Given the description of an element on the screen output the (x, y) to click on. 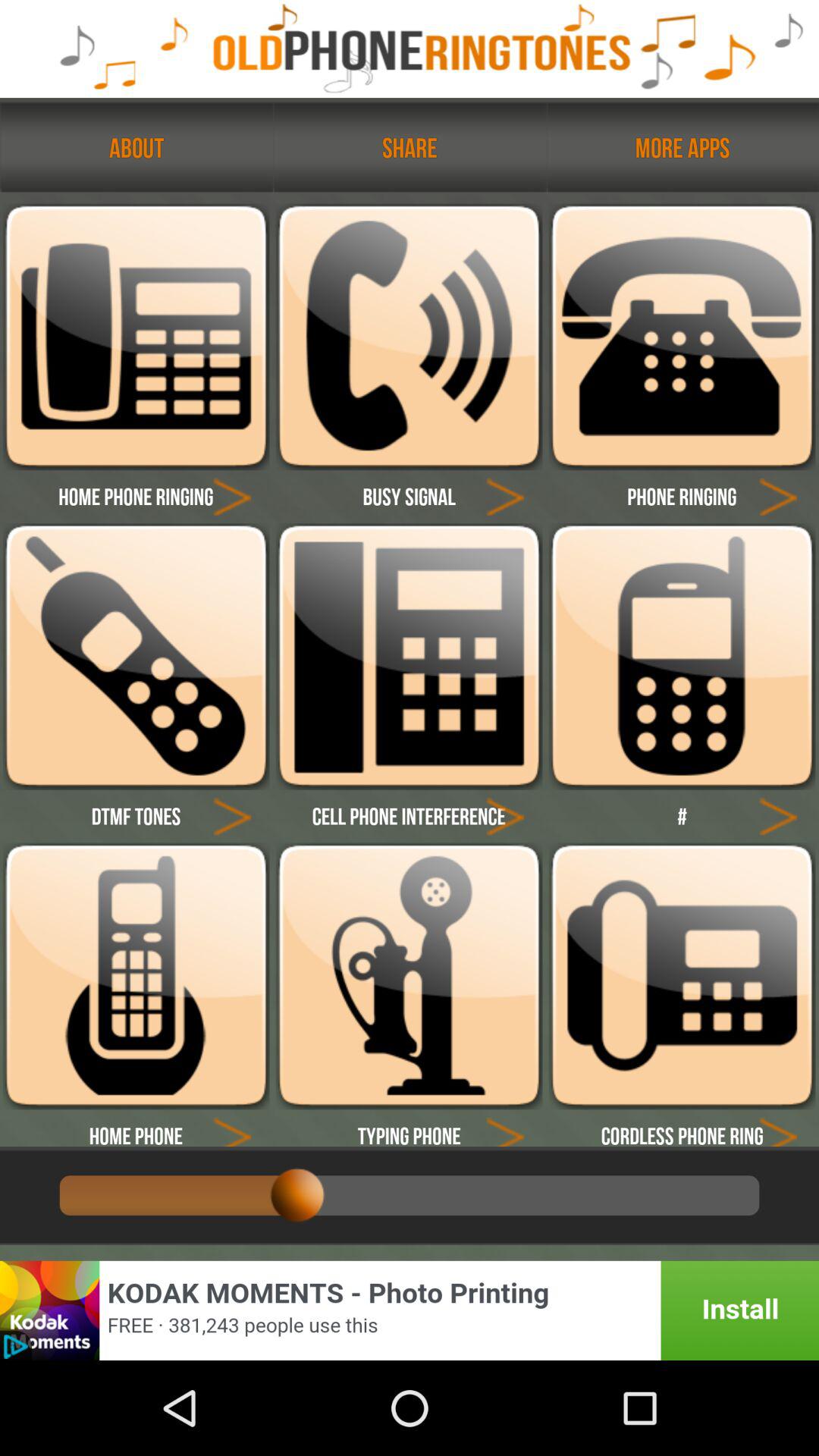
open home phone options (135, 975)
